Given the description of an element on the screen output the (x, y) to click on. 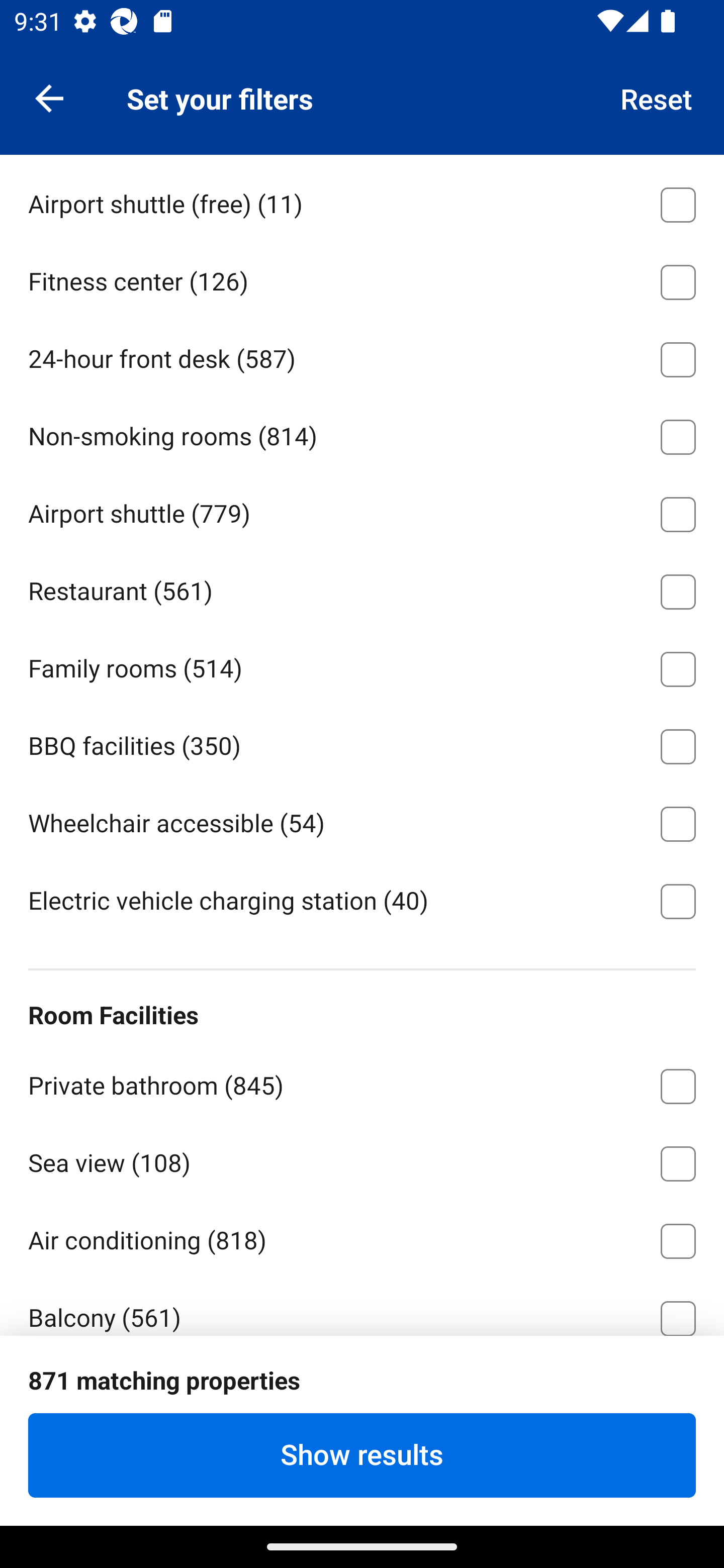
Navigate up (49, 97)
Reset (656, 97)
Airport shuttle (free) ⁦(11) (361, 201)
Fitness center ⁦(126) (361, 278)
24-hour front desk ⁦(587) (361, 356)
Non-smoking rooms ⁦(814) (361, 433)
Airport shuttle ⁦(779) (361, 510)
Restaurant ⁦(561) (361, 588)
Family rooms ⁦(514) (361, 665)
BBQ facilities ⁦(350) (361, 743)
Wheelchair accessible ⁦(54) (361, 820)
Electric vehicle charging station ⁦(40) (361, 899)
Private bathroom ⁦(845) (361, 1082)
Sea view ⁦(108) (361, 1160)
Air conditioning ⁦(818) (361, 1237)
Balcony ⁦(561) (361, 1305)
Private pool ⁦(677) (361, 1395)
Show results (361, 1454)
